Given the description of an element on the screen output the (x, y) to click on. 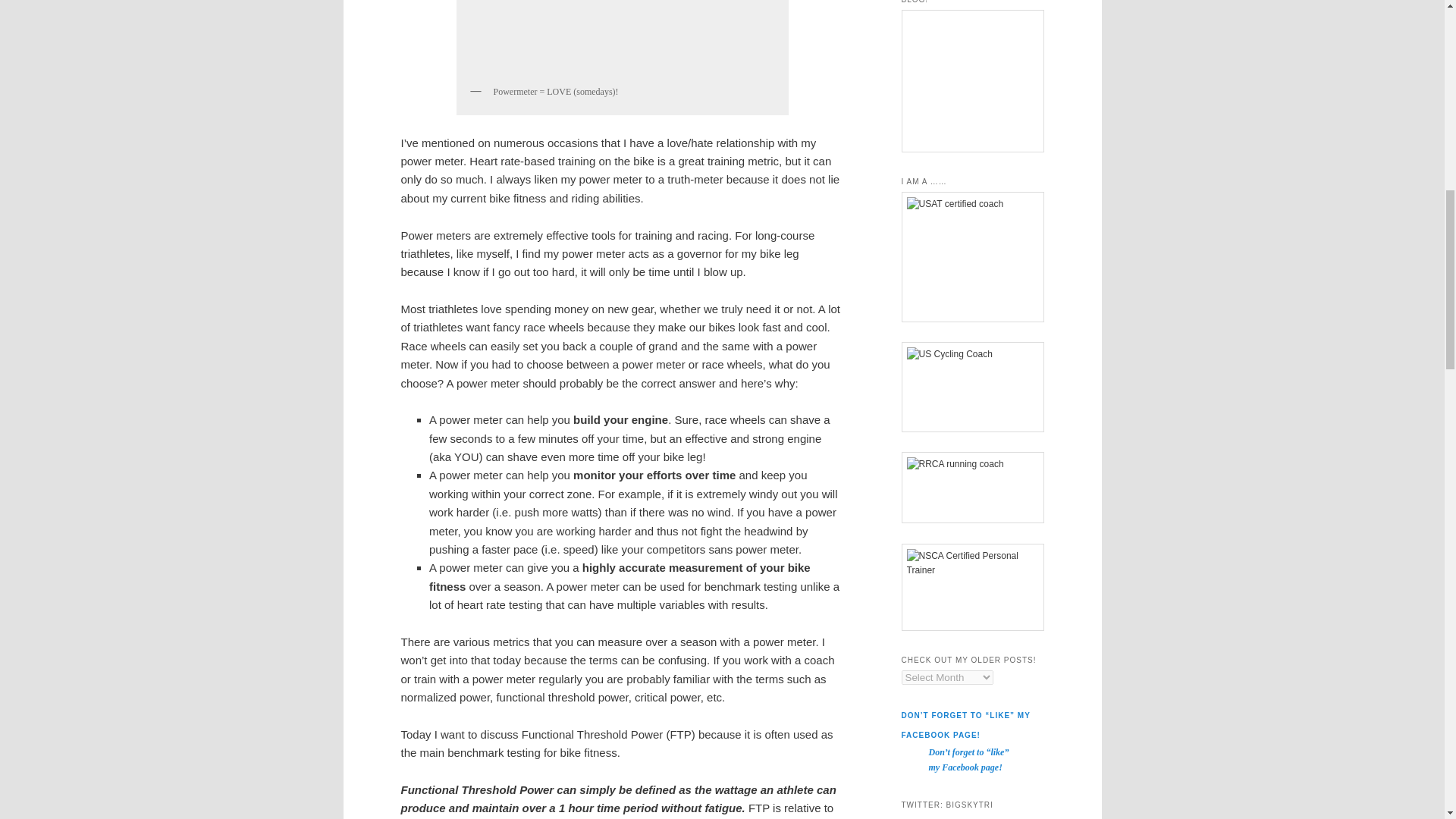
Retweet (968, 818)
Favorite (1006, 818)
Reply (935, 818)
